Given the description of an element on the screen output the (x, y) to click on. 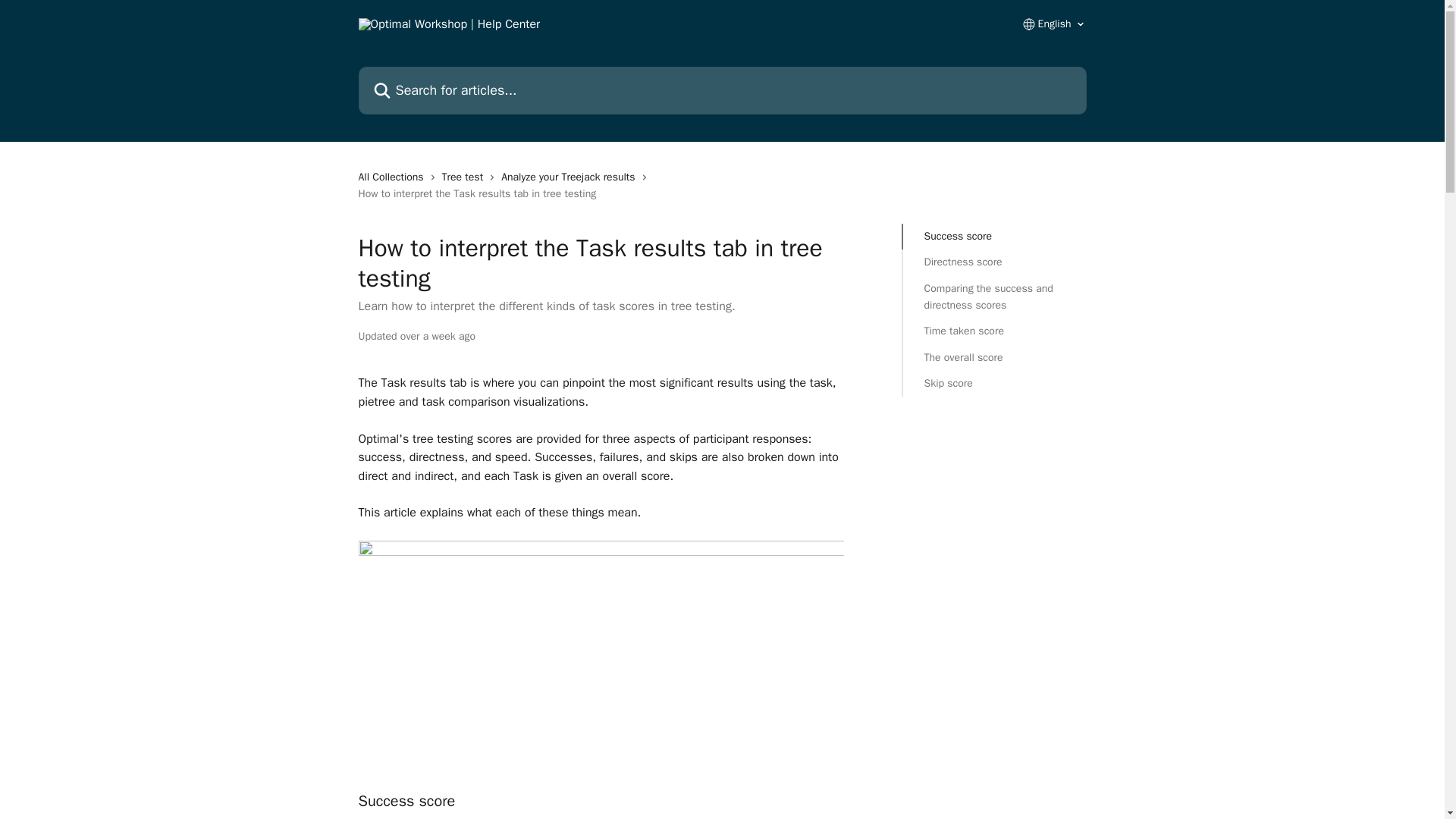
All Collections (393, 176)
Time taken score (993, 330)
Directness score (993, 262)
Success score (993, 236)
The overall score (993, 357)
Skip score (993, 383)
Comparing the success and directness scores (993, 297)
Analyze your Treejack results (570, 176)
Tree test (465, 176)
